Given the description of an element on the screen output the (x, y) to click on. 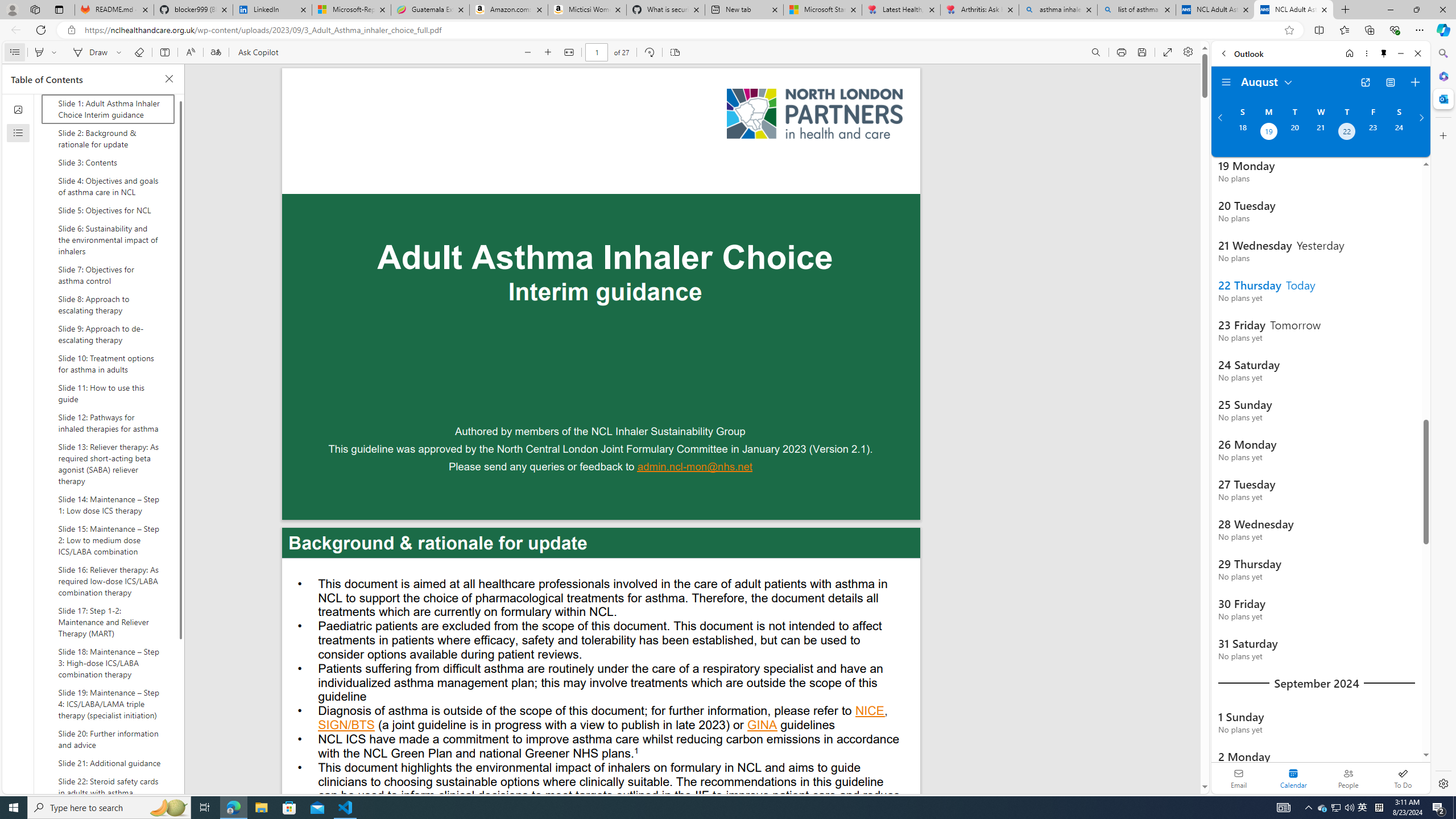
Select a highlight color (56, 52)
admin.ncl-mon@nhs.net (694, 467)
Highlight (39, 52)
To Do (1402, 777)
Thursday, August 22, 2024. Today.  (1346, 132)
Settings and more (1187, 52)
